Given the description of an element on the screen output the (x, y) to click on. 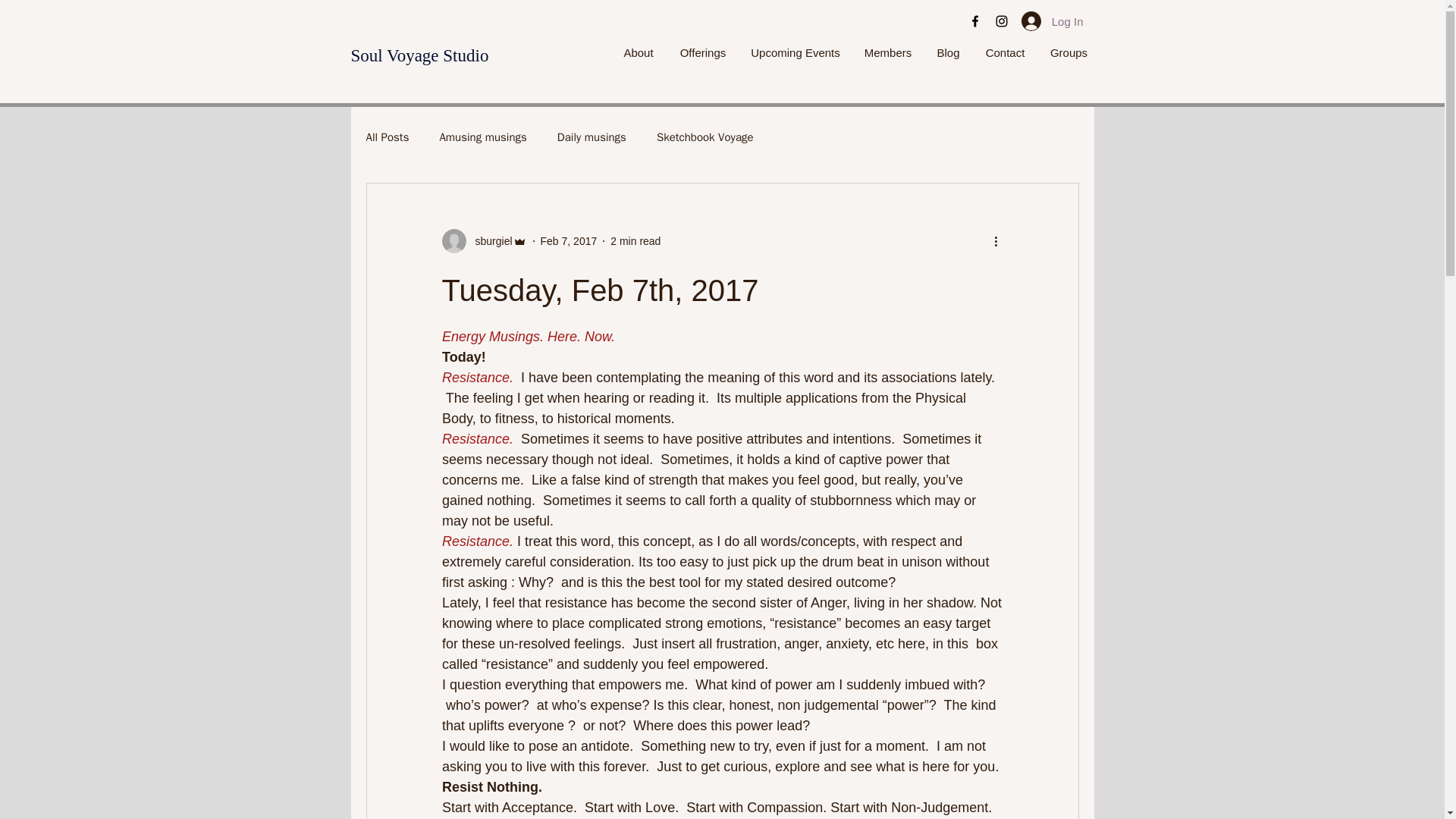
Offerings (702, 53)
All Posts (387, 137)
About (638, 53)
Feb 7, 2017 (568, 241)
Blog (947, 53)
Sketchbook Voyage (705, 137)
Groups (1067, 53)
Log In (1052, 21)
Contact (1004, 53)
2 min read (635, 241)
Soul Voyage Studio (418, 55)
Upcoming Events (794, 53)
Daily musings (591, 137)
Members (887, 53)
sburgiel (488, 241)
